Given the description of an element on the screen output the (x, y) to click on. 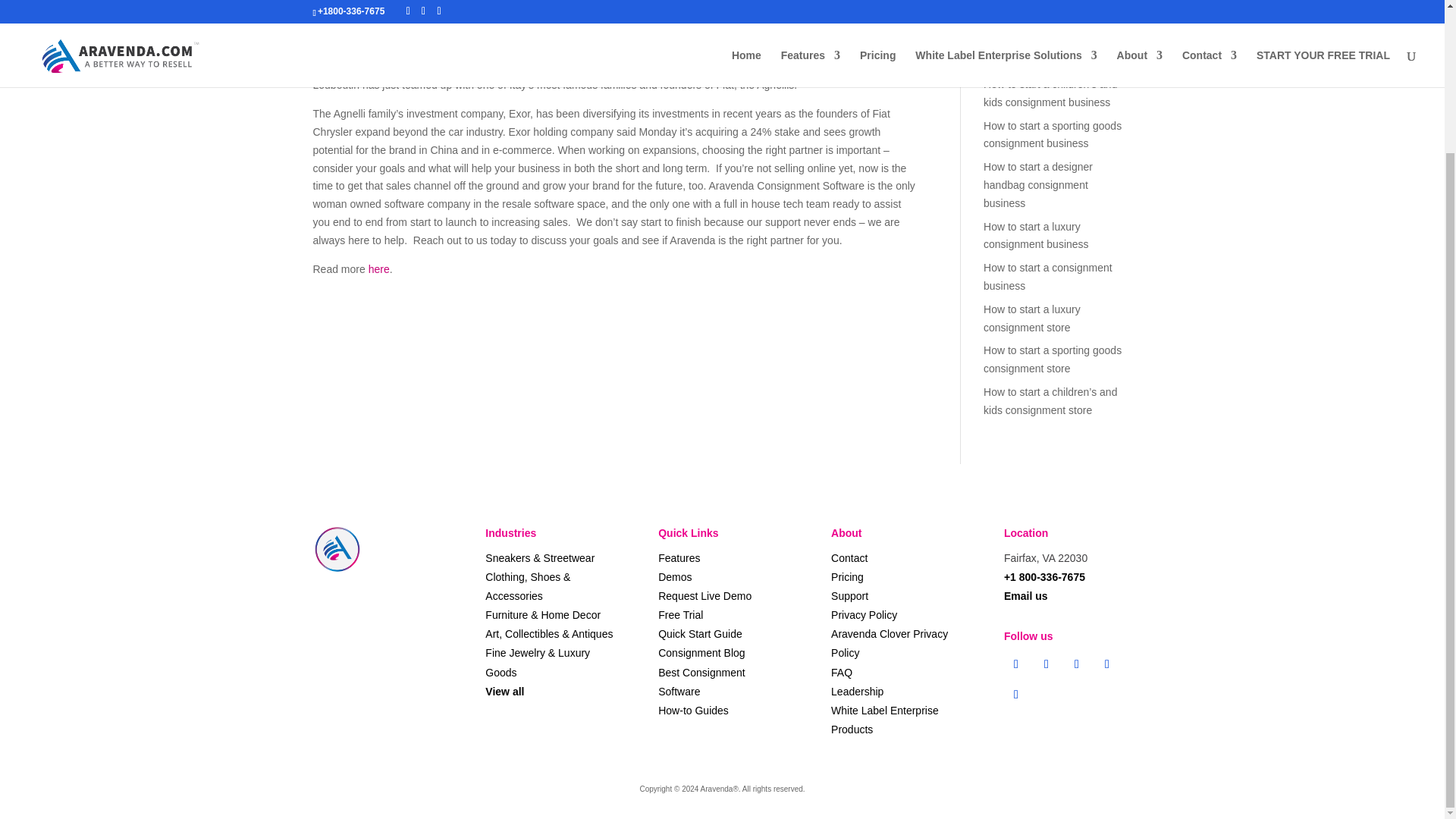
Follow on LinkedIn (1015, 694)
Aravenda Logo (337, 549)
Follow on Pinterest (1106, 663)
Follow on Instagram (1076, 663)
Follow on X (1045, 663)
Follow on Facebook (1015, 663)
